Given the description of an element on the screen output the (x, y) to click on. 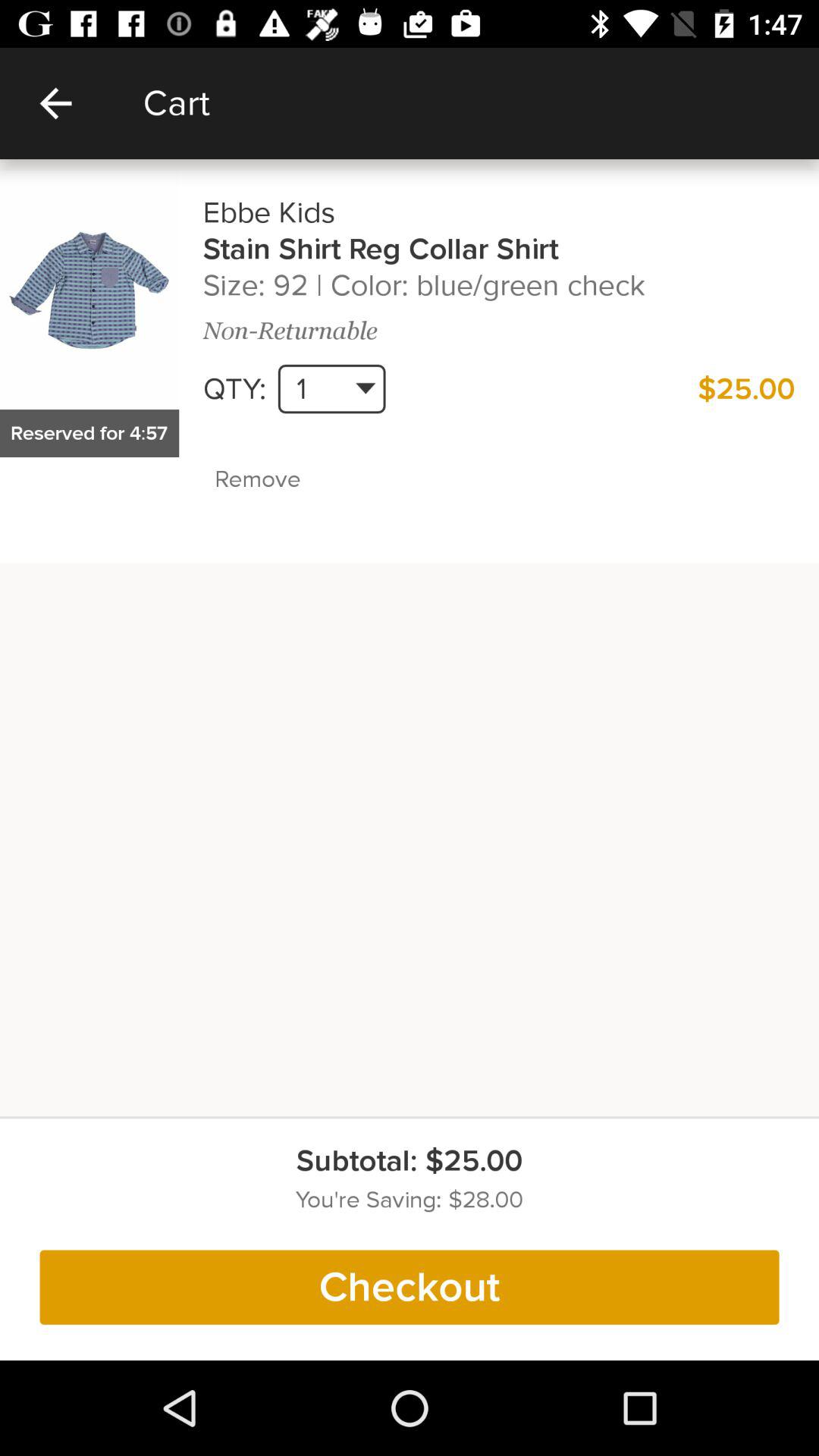
select icon to the left of cart icon (55, 103)
